Given the description of an element on the screen output the (x, y) to click on. 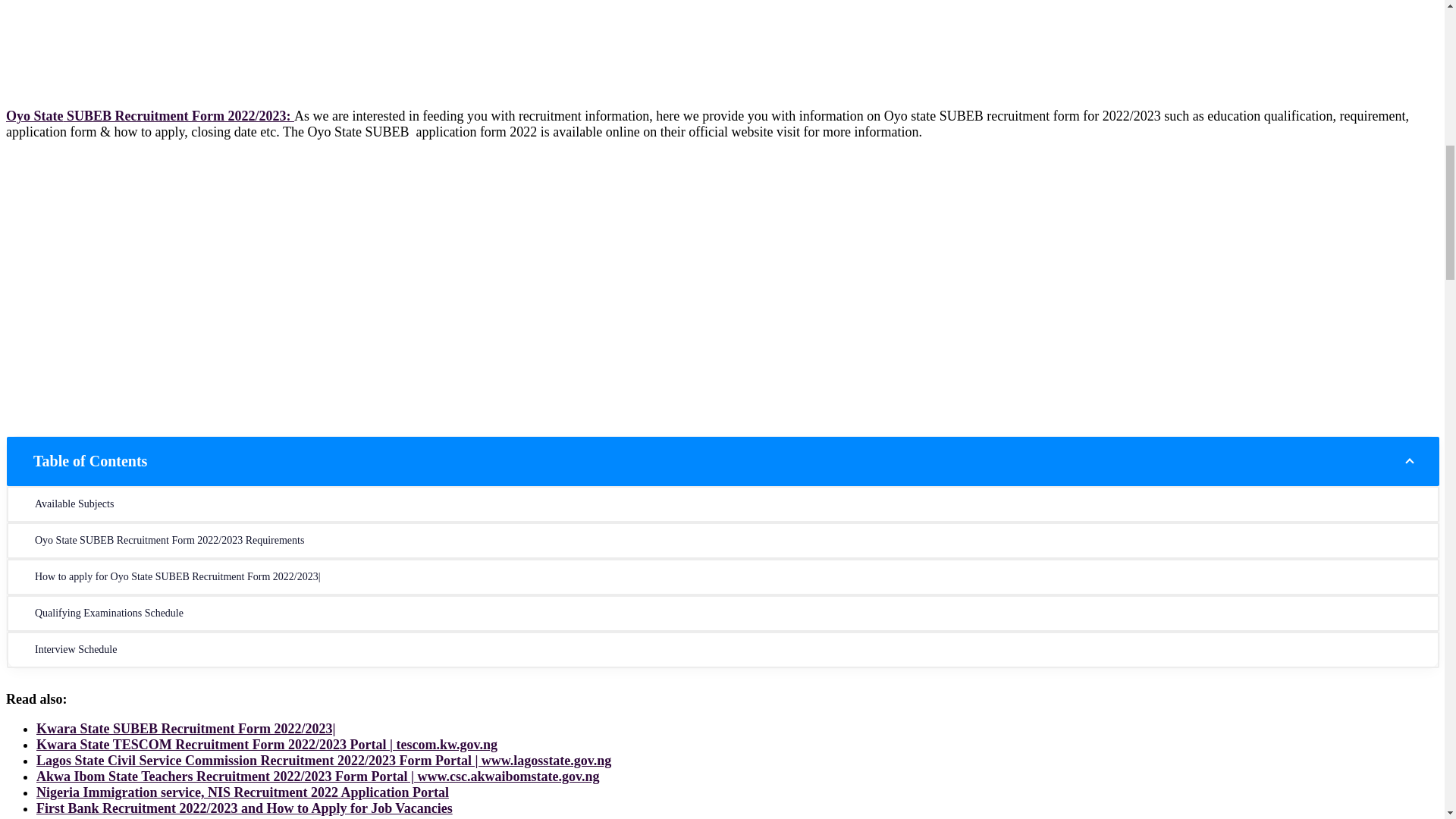
Oyo State  (35, 115)
